Given the description of an element on the screen output the (x, y) to click on. 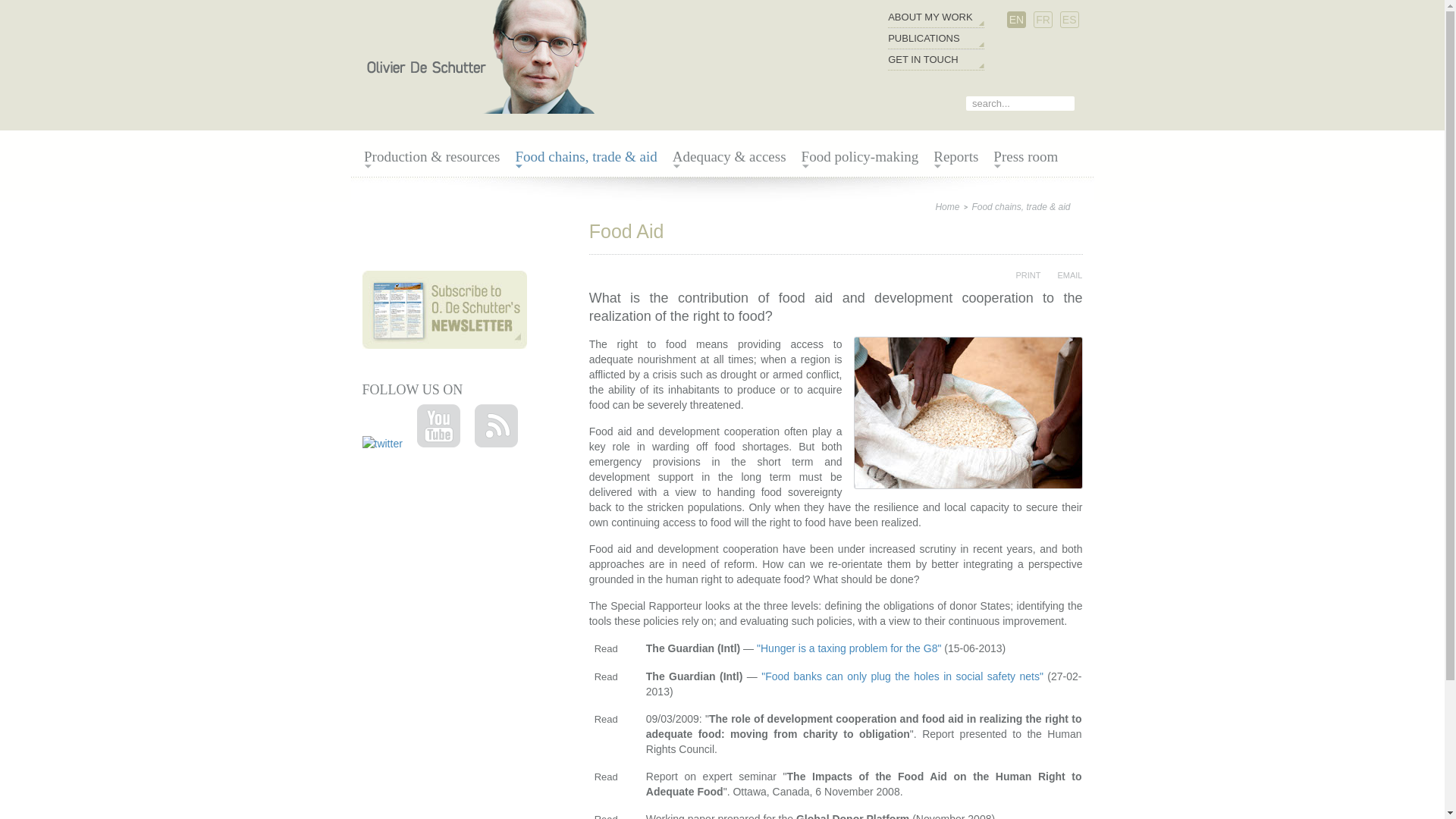
Reset (3, 2)
ABOUT MY WORK (930, 17)
EN (1016, 19)
Reports (955, 156)
Search (1069, 104)
FR (1042, 19)
Press room (1025, 156)
Email this link to a friend (1062, 274)
ES (1069, 19)
GET IN TOUCH (930, 59)
Food policy-making (859, 156)
